Given the description of an element on the screen output the (x, y) to click on. 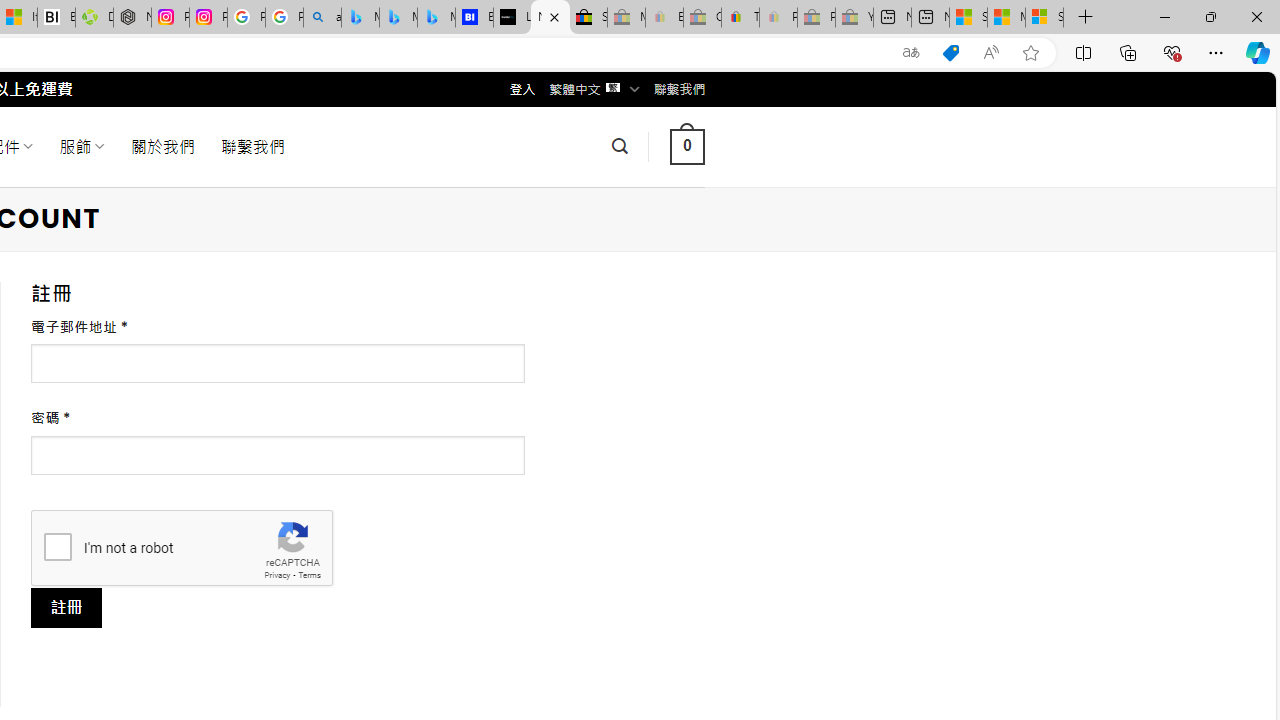
Microsoft Bing Travel - Shangri-La Hotel Bangkok (436, 17)
Nordace - Nordace Edin Collection (132, 17)
Terms (309, 575)
